Given the description of an element on the screen output the (x, y) to click on. 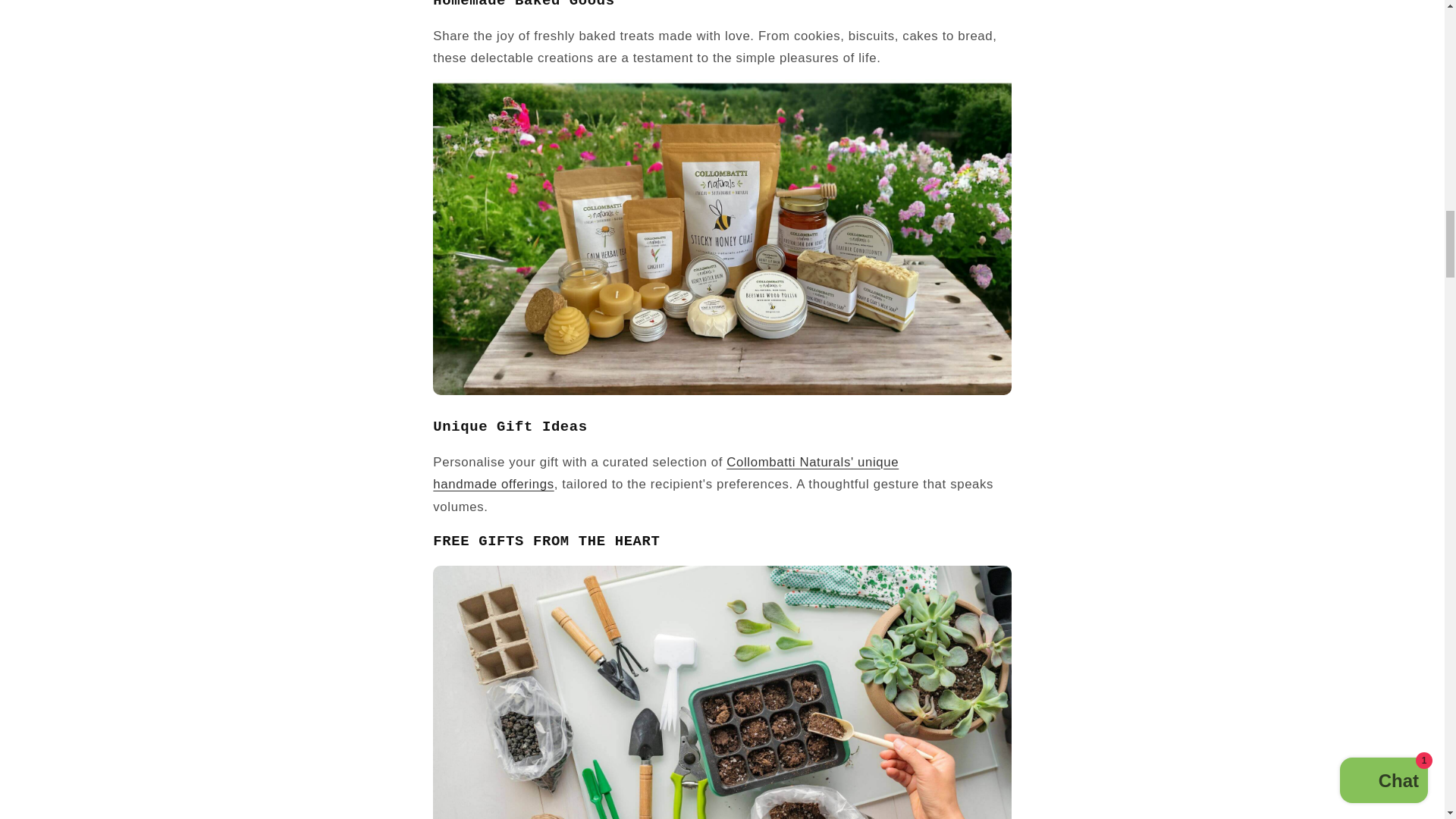
Collombatti Naturals Gift Ideas (665, 473)
Collombatti Naturals Gift ideas collection (721, 391)
